Given the description of an element on the screen output the (x, y) to click on. 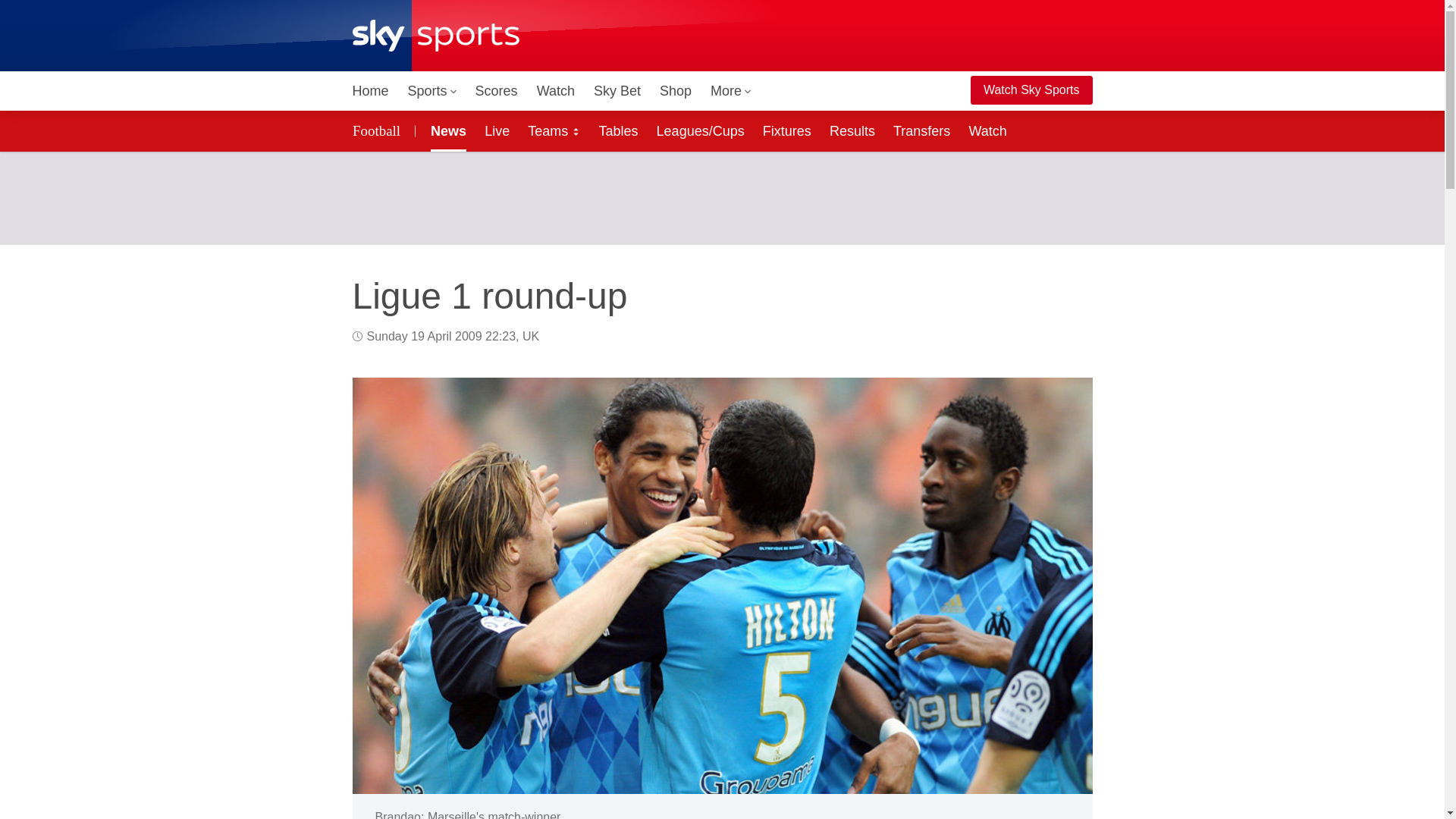
Shop (675, 91)
Sky Bet (616, 91)
Teams (553, 130)
Scores (496, 91)
News (445, 130)
Football (378, 130)
Watch (555, 91)
Live (497, 130)
More (730, 91)
Watch Sky Sports (1032, 90)
Sports (432, 91)
Home (369, 91)
